Given the description of an element on the screen output the (x, y) to click on. 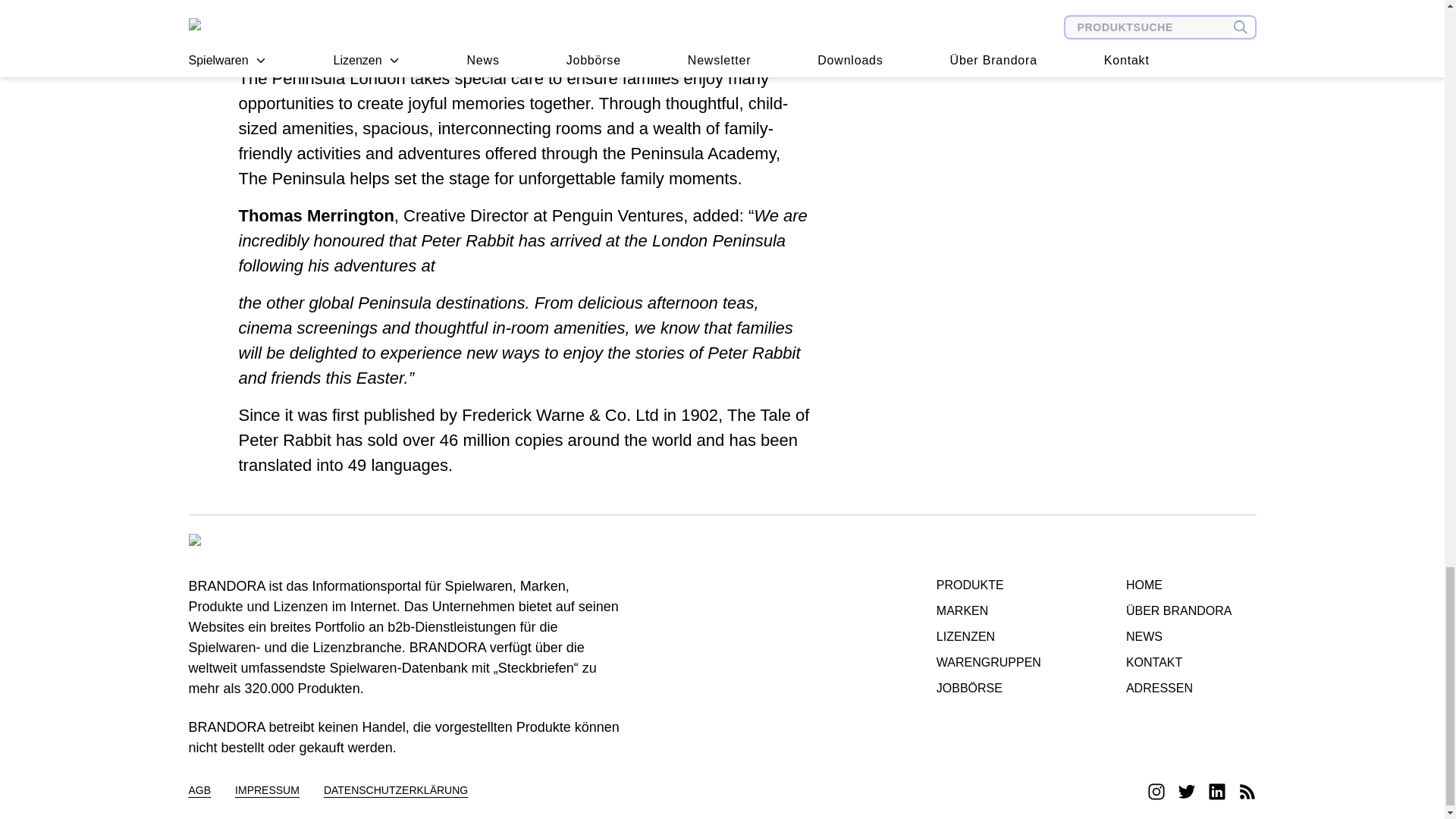
IMPRESSUM (266, 791)
MARKEN (988, 610)
NEWS (1178, 637)
HOME (1178, 585)
KONTAKT (1178, 662)
AGB (199, 791)
ADRESSEN (1178, 688)
WARENGRUPPEN (988, 662)
PRODUKTE (988, 585)
LIZENZEN (988, 637)
